Given the description of an element on the screen output the (x, y) to click on. 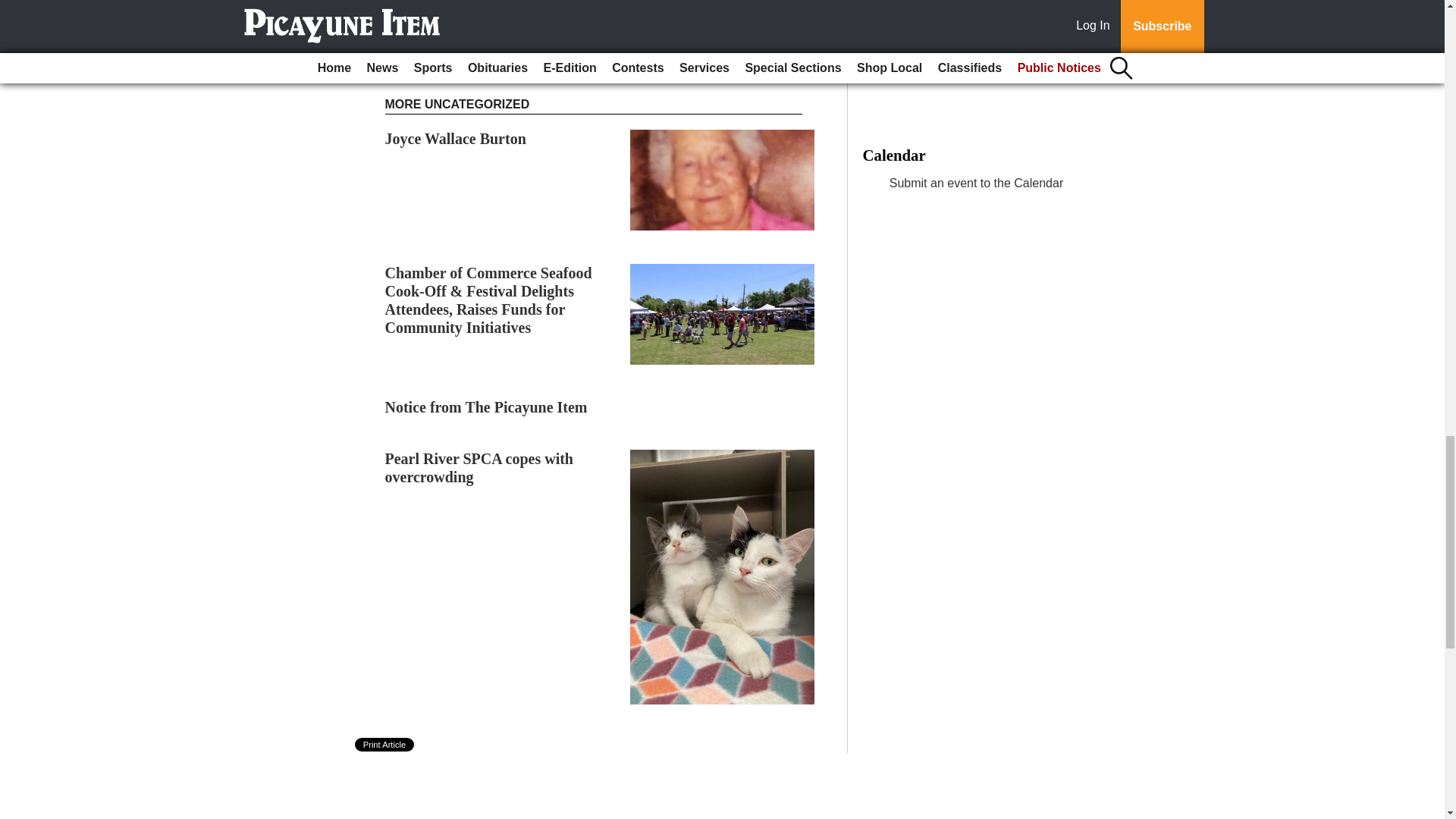
Notice from The Picayune Item (486, 406)
Pearl River SPCA copes with overcrowding (479, 467)
Joyce Wallace Burton (455, 138)
Notice from The Picayune Item (486, 406)
Pearl River SPCA copes with overcrowding (479, 467)
Print Article (384, 744)
Joyce Wallace Burton (455, 138)
